Given the description of an element on the screen output the (x, y) to click on. 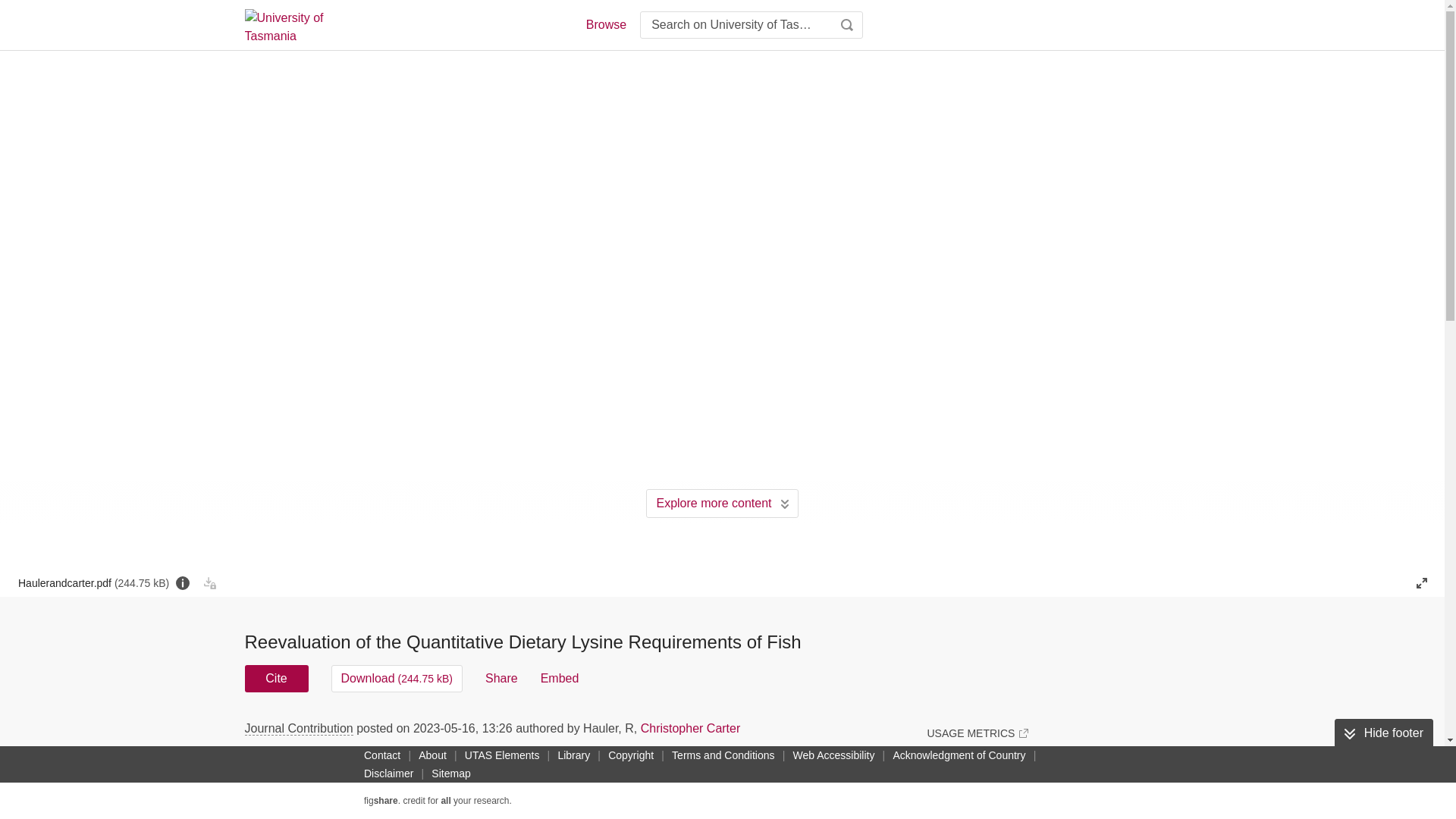
About (432, 755)
Terms and Conditions (722, 755)
Acknowledgment of Country (958, 755)
UTAS Elements (502, 755)
Disclaimer (388, 773)
Web Accessibility (834, 755)
Cite (275, 678)
Browse (605, 24)
Contact (381, 755)
Library (573, 755)
